Given the description of an element on the screen output the (x, y) to click on. 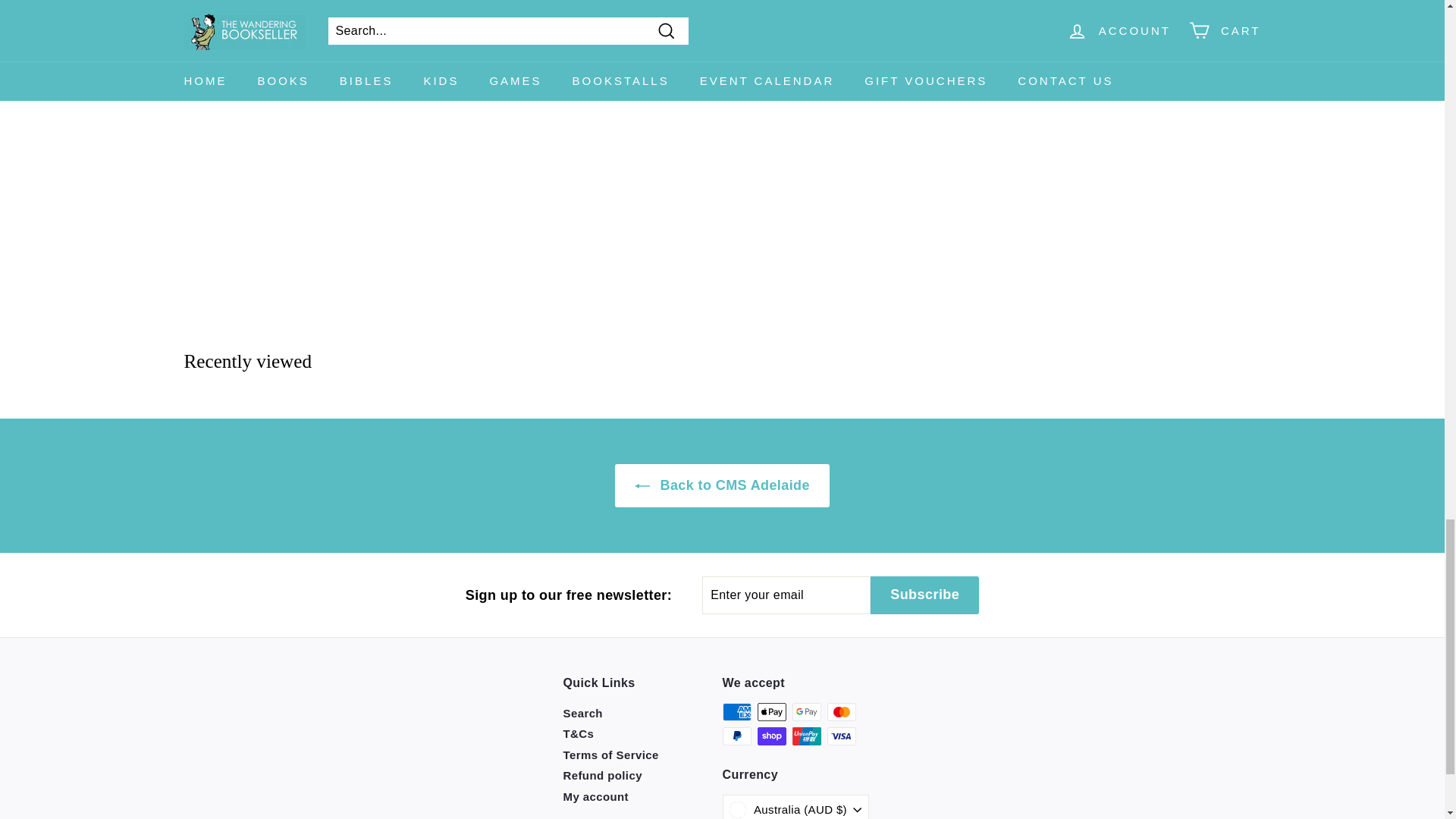
Shop Pay (771, 736)
PayPal (736, 736)
Apple Pay (771, 711)
Mastercard (841, 711)
Visa (841, 736)
American Express (736, 711)
Union Pay (806, 736)
Google Pay (806, 711)
